Given the description of an element on the screen output the (x, y) to click on. 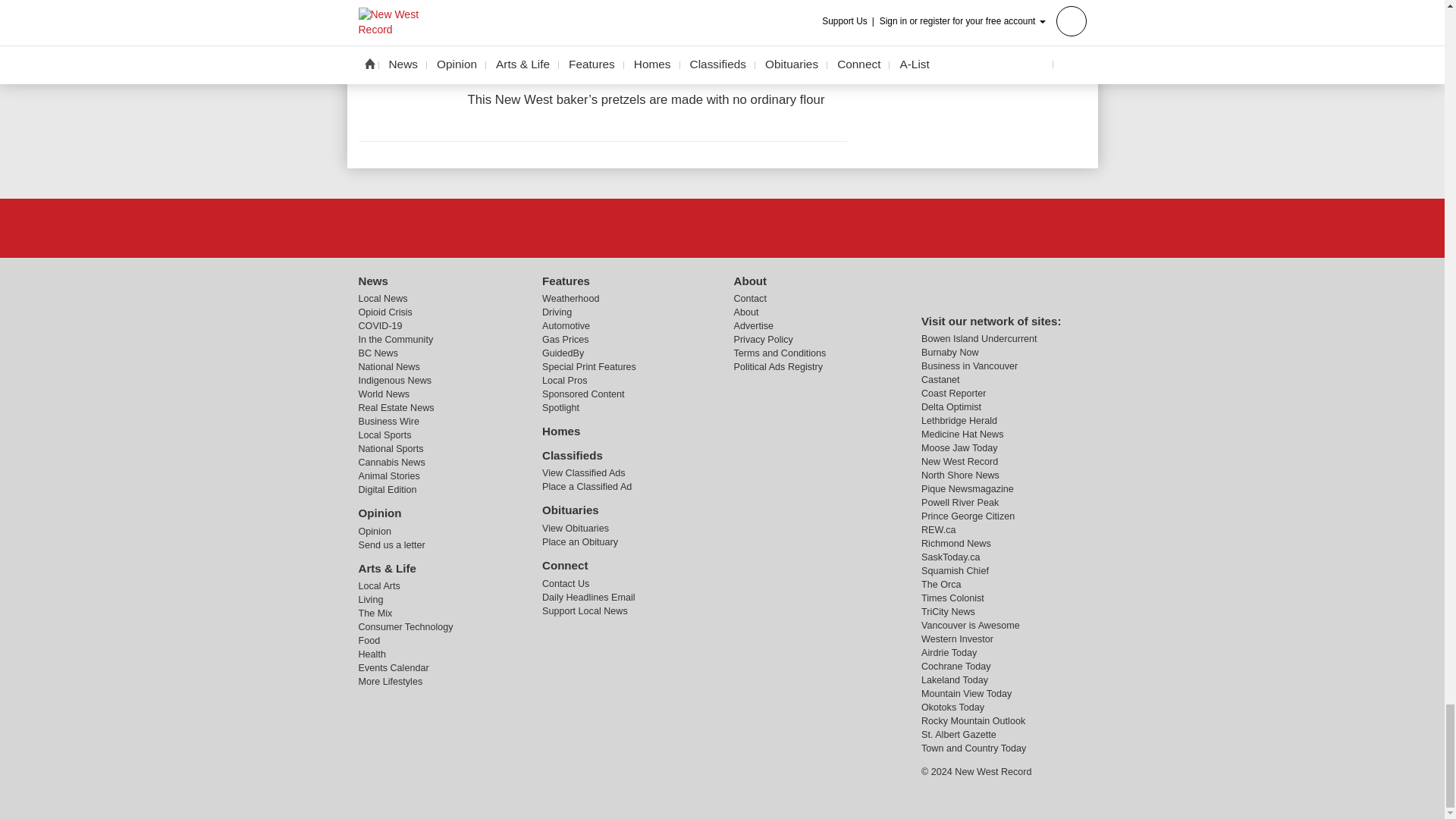
X (721, 226)
Instagram (760, 226)
Facebook (683, 226)
